Given the description of an element on the screen output the (x, y) to click on. 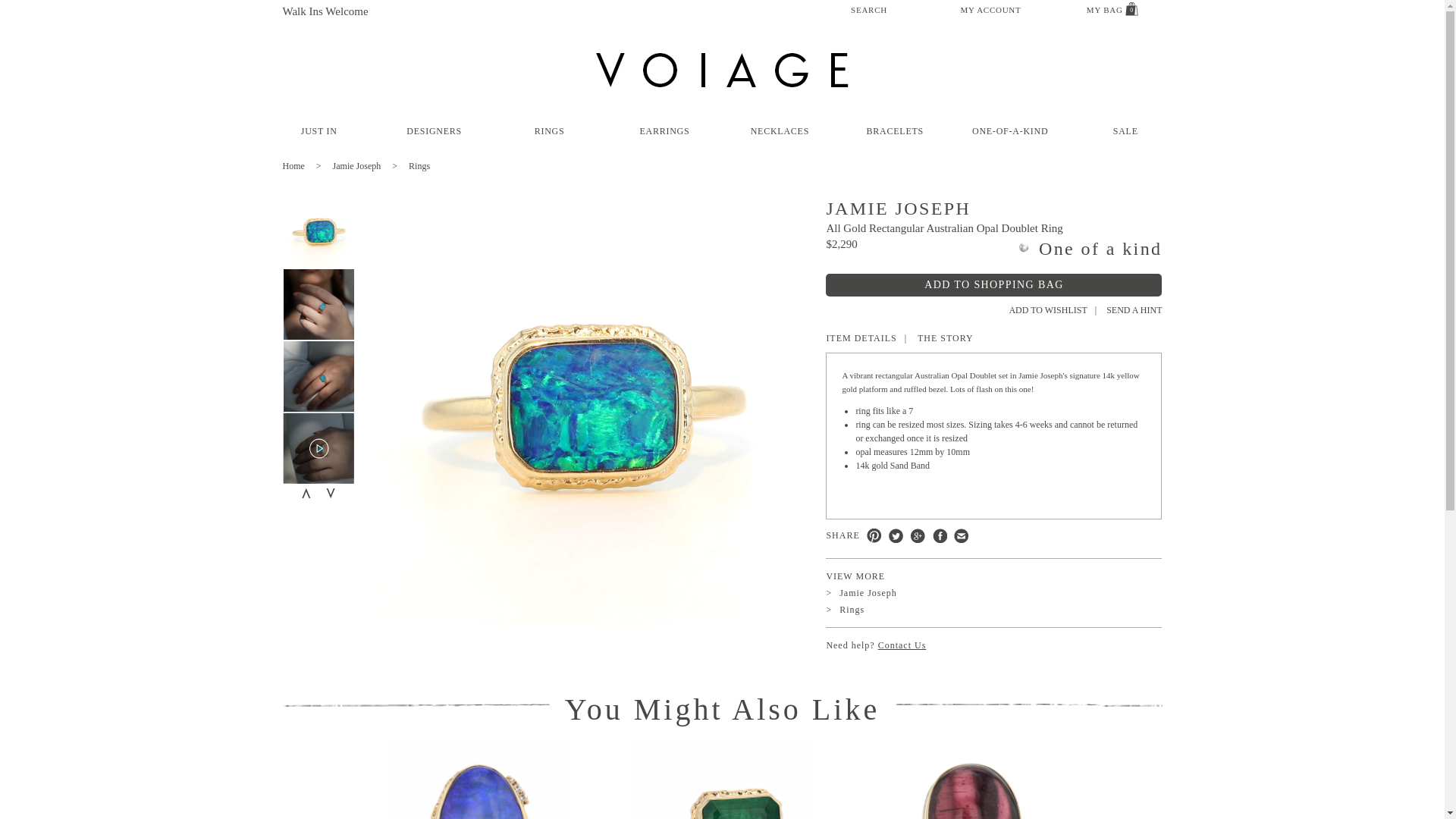
Rings (419, 165)
JUST IN (319, 131)
MY ACCOUNT (990, 9)
RINGS (549, 131)
DESIGNERS (433, 131)
ONE-OF-A-KIND (1010, 131)
MY BAG 0 (1112, 9)
Jamie Joseph (371, 165)
SEARCH (868, 9)
EARRINGS (665, 131)
Add to shopping bag (993, 284)
SALE (1125, 131)
NECKLACES (780, 131)
Home (306, 165)
BRACELETS (894, 131)
